Given the description of an element on the screen output the (x, y) to click on. 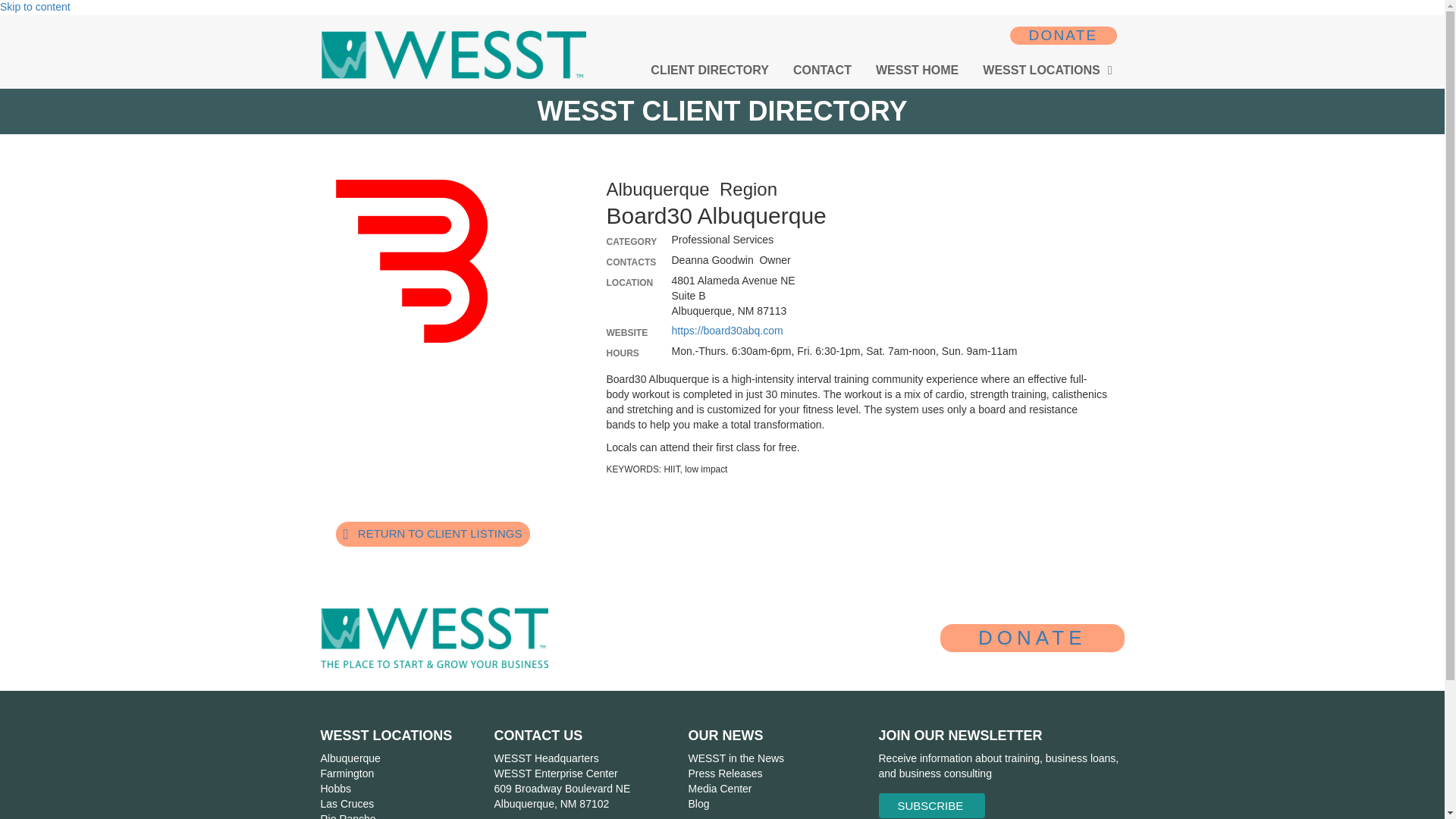
WESST HOME (917, 70)
Farmington (347, 773)
CLIENT DIRECTORY (709, 70)
CONTACT (822, 70)
Press Releases (724, 773)
DONATE (1063, 35)
Albuquerque (350, 758)
WESST-logo-H-with-tag-and-TM-400 (433, 637)
Rio Rancho (347, 816)
Media Center (719, 788)
